Given the description of an element on the screen output the (x, y) to click on. 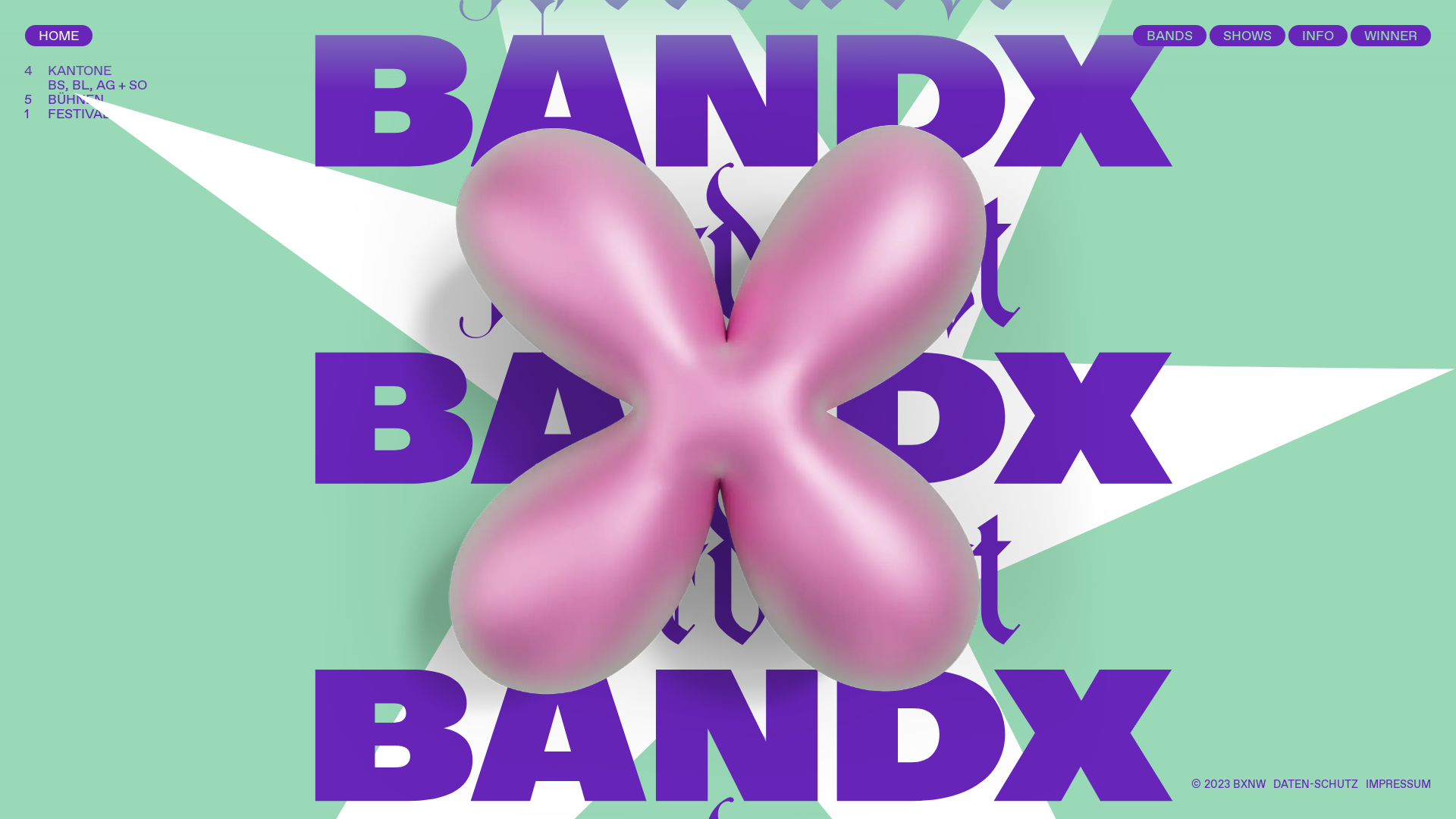
INFO Element type: text (1317, 35)
WINNER Element type: text (1390, 35)
BANDS Element type: text (1169, 35)
IMPRESSUM Element type: text (1397, 785)
SHOWS Element type: text (1247, 35)
HOME Element type: text (58, 35)
